Given the description of an element on the screen output the (x, y) to click on. 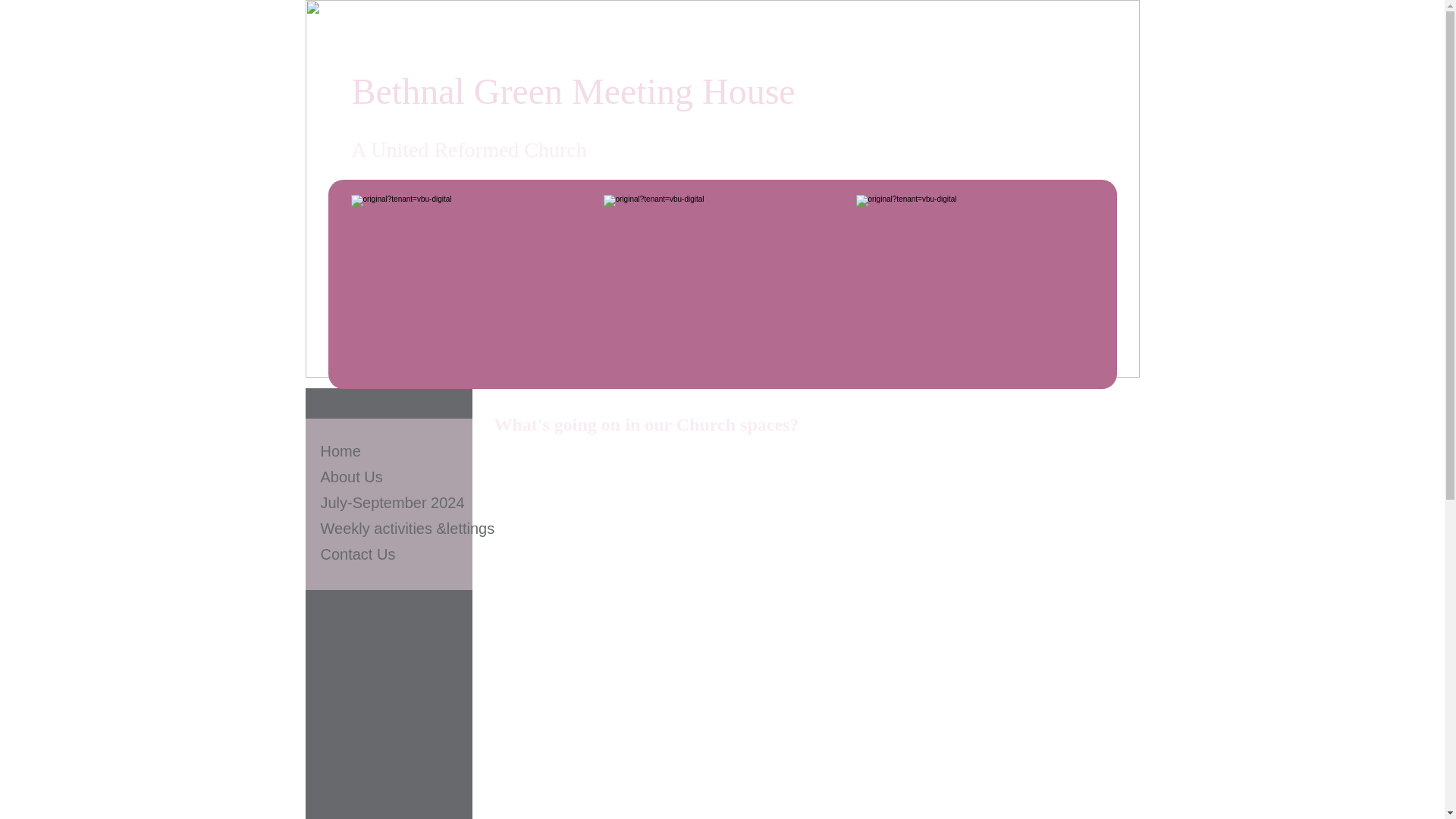
July-September 2024 (392, 503)
Home (340, 451)
About Us (351, 477)
Contact Us (358, 554)
